Given the description of an element on the screen output the (x, y) to click on. 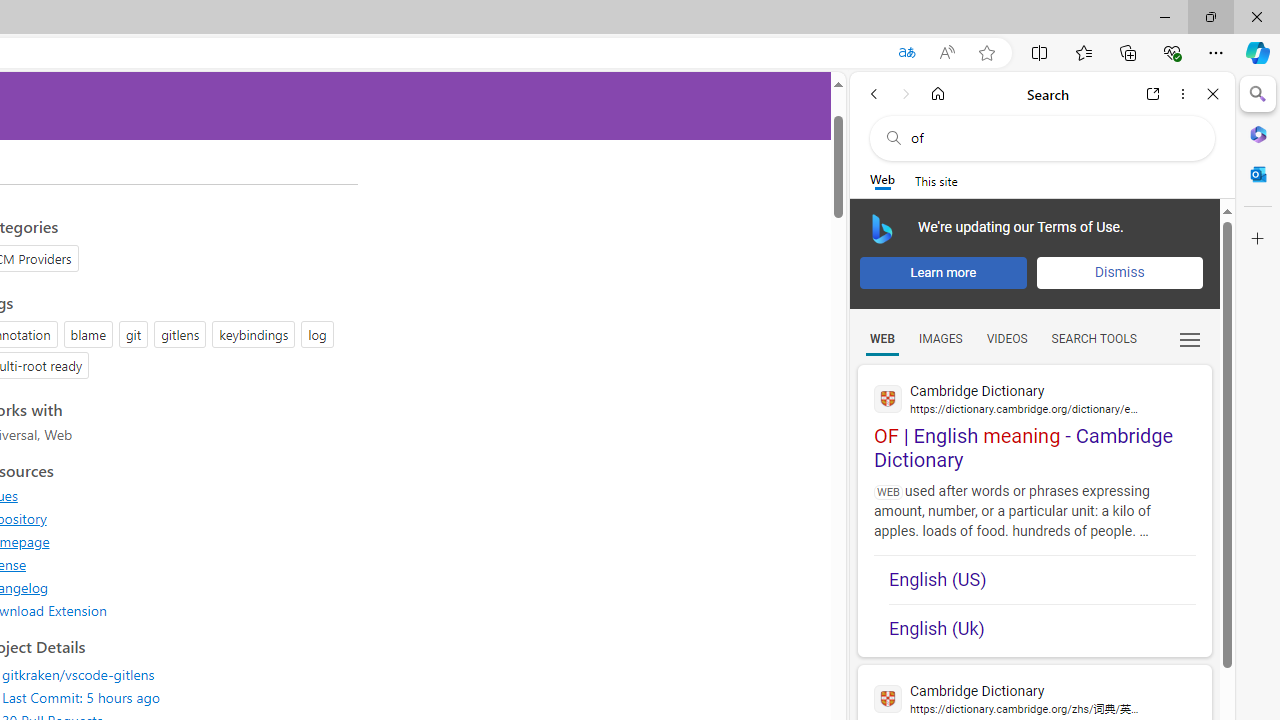
Search Filter, WEB (882, 339)
English (Uk) (1042, 622)
Learn more (943, 272)
